Given the description of an element on the screen output the (x, y) to click on. 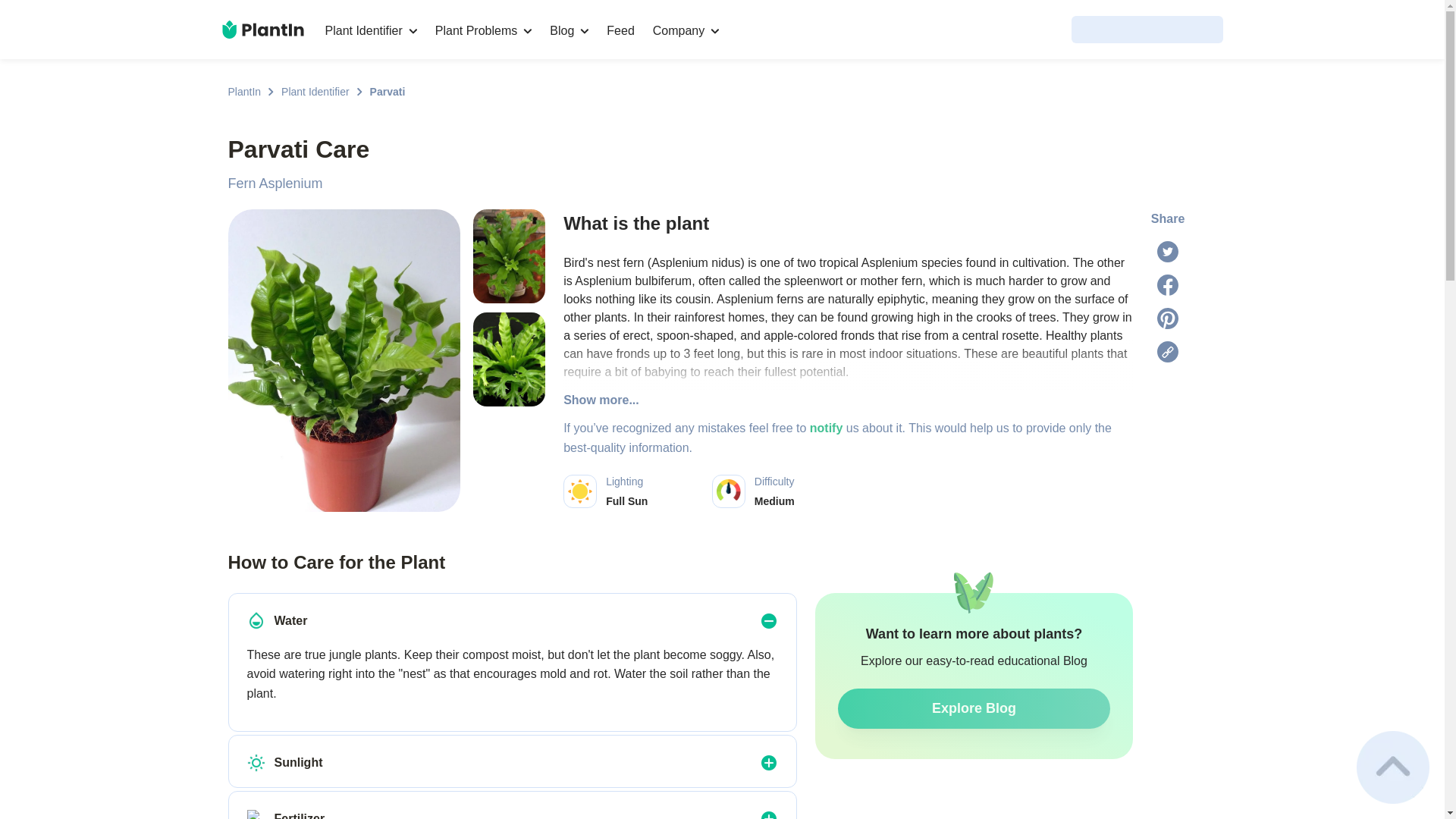
Plant Problems (483, 31)
Facebook (847, 483)
Sunlight (1167, 284)
Plant Identifier (255, 762)
Plant Identifier (315, 91)
Difficulty (315, 91)
Company (728, 491)
Feed (685, 31)
PlantIn (619, 31)
Pinterest (243, 91)
Water (1167, 318)
Home (255, 620)
PlantIn (261, 29)
Fertilizer (243, 91)
